Given the description of an element on the screen output the (x, y) to click on. 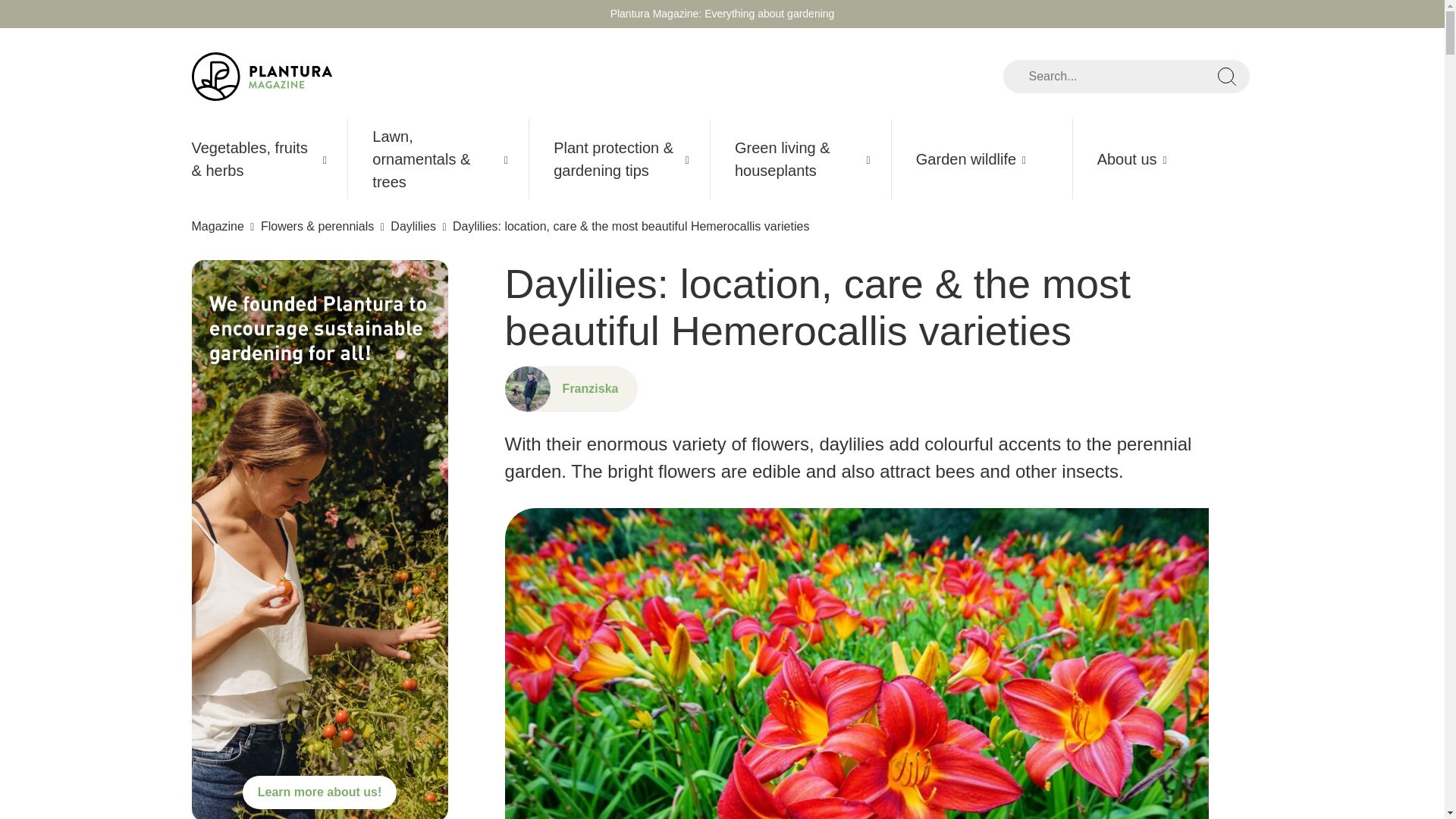
Gehe zu Plantura. (218, 226)
Daylilies (414, 226)
